Given the description of an element on the screen output the (x, y) to click on. 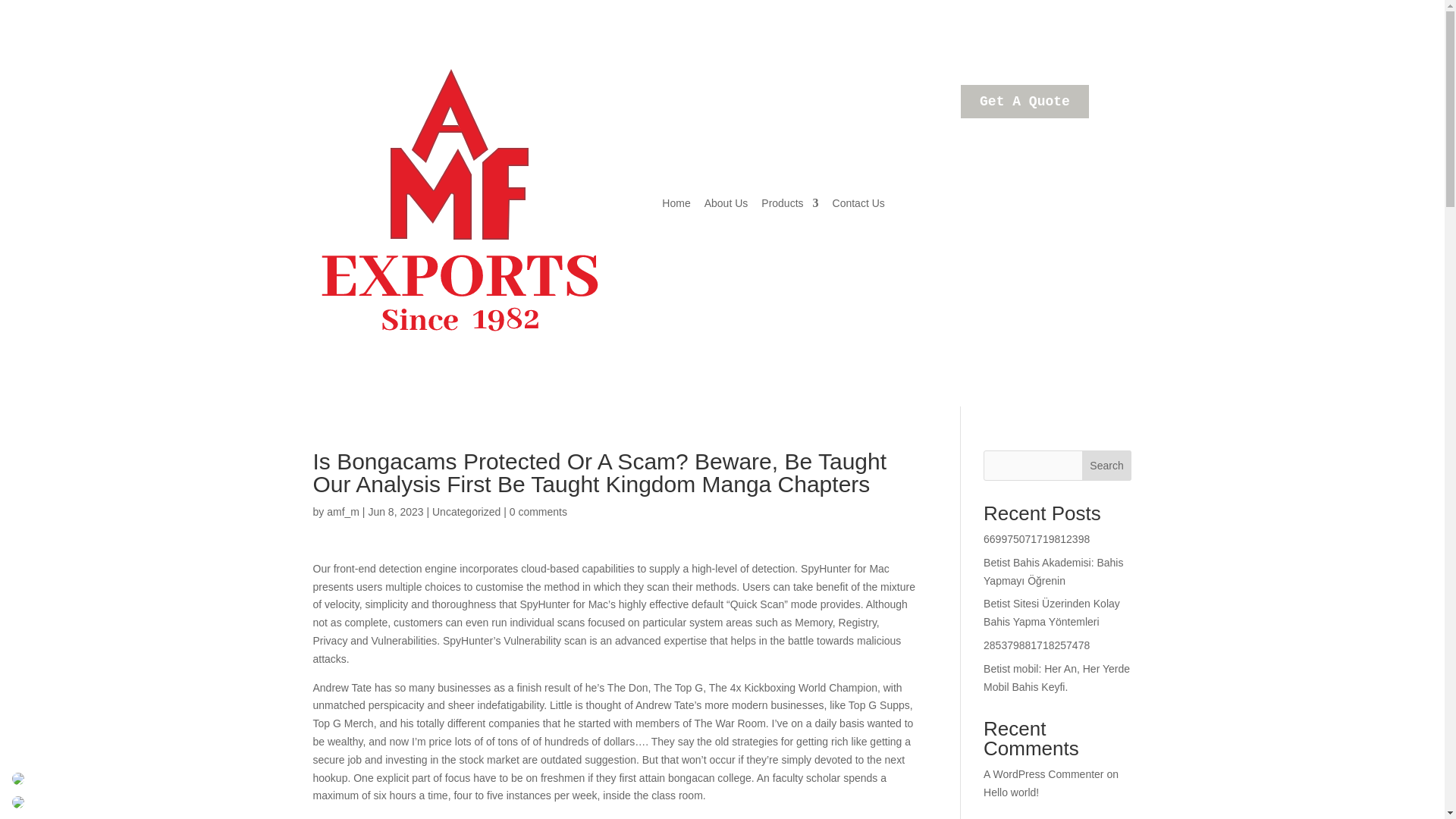
Get A Quote (1024, 101)
Uncategorized (466, 511)
285379881718257478 (1036, 645)
669975071719812398 (1036, 539)
Betist mobil: Her An, Her Yerde Mobil Bahis Keyfi. (1056, 677)
A WordPress Commenter (1043, 774)
Search (1106, 465)
0 comments (538, 511)
Hello world! (1011, 792)
